Given the description of an element on the screen output the (x, y) to click on. 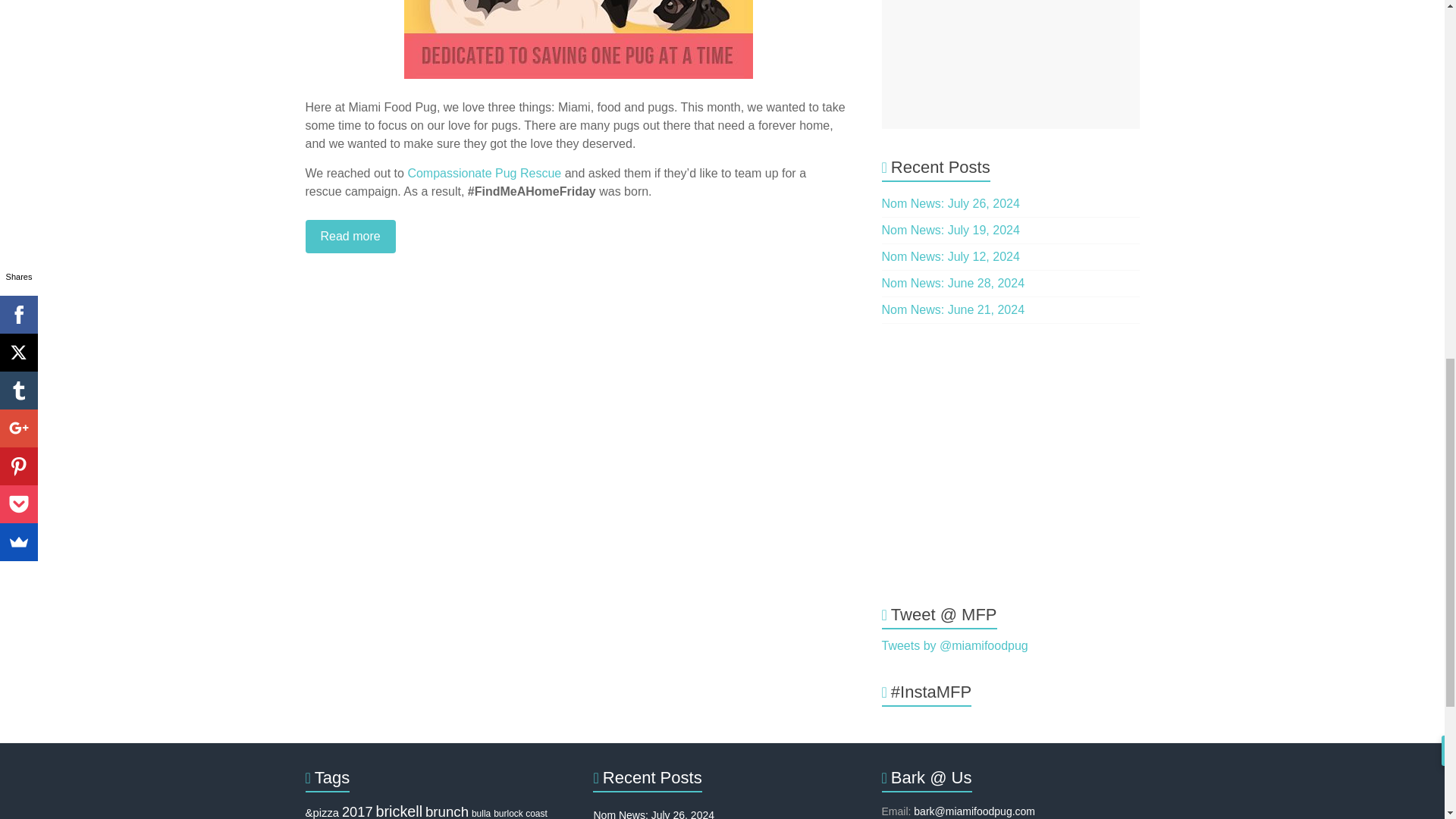
Nom News: June 21, 2024 (953, 309)
Nom News: July 26, 2024 (951, 203)
Nom News: July 19, 2024 (951, 229)
Read more (577, 236)
Nom News: June 28, 2024 (953, 282)
Nom News: July 12, 2024 (951, 256)
Compassionate Pug Rescue (483, 173)
Advertisement (1011, 64)
